Given the description of an element on the screen output the (x, y) to click on. 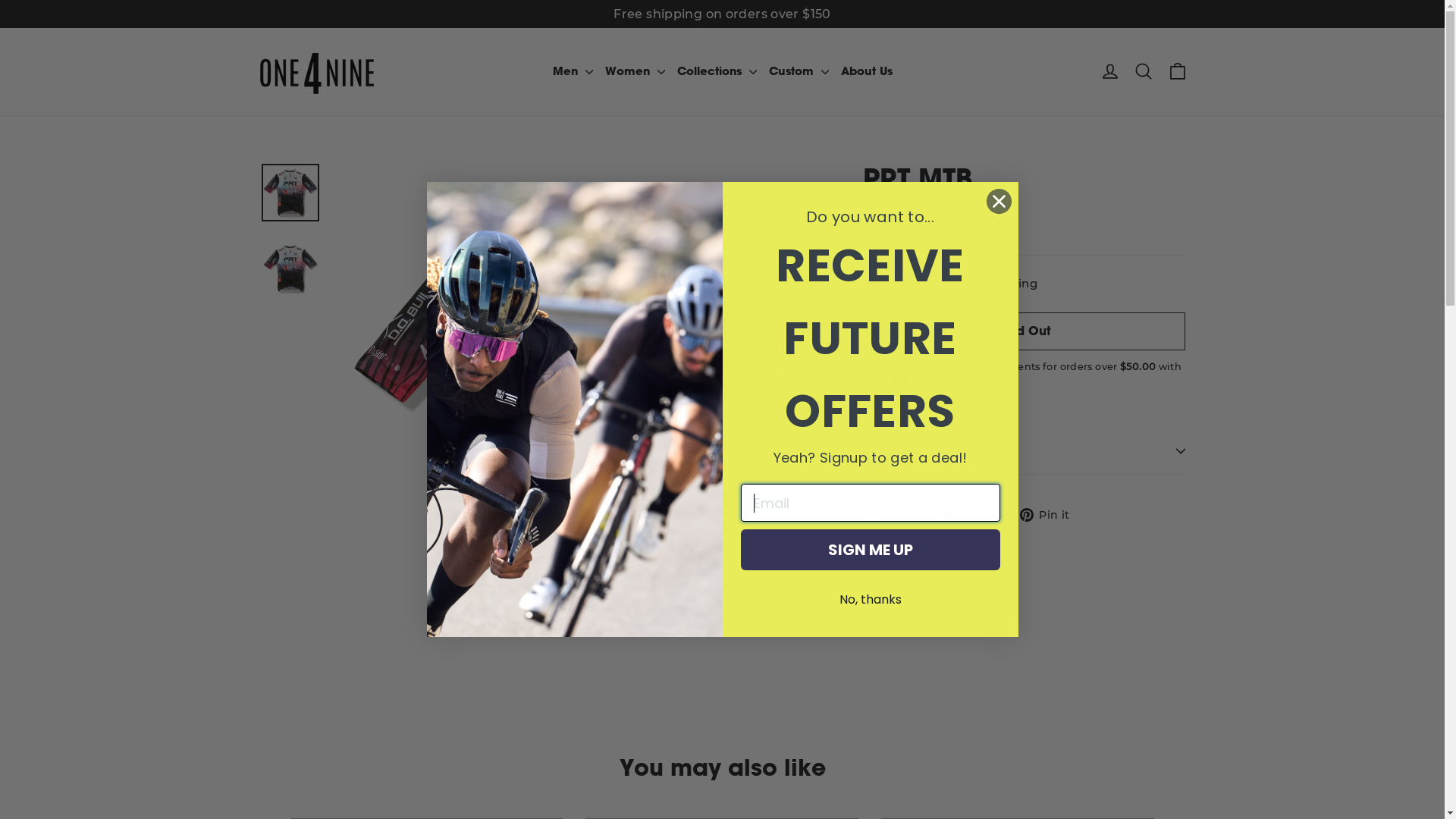
Sold Out Element type: text (1023, 331)
Log in Element type: text (1109, 71)
Women Element type: text (635, 70)
Tweet
Tweet on Twitter Element type: text (973, 514)
Search Element type: text (1143, 71)
About Us Element type: text (865, 70)
Men Element type: text (572, 70)
Cart Element type: text (1176, 71)
Share
Share on Facebook Element type: text (894, 514)
ASK A QUESTION Element type: text (1023, 450)
Collections Element type: text (716, 70)
Custom Element type: text (798, 70)
Pin it
Pin on Pinterest Element type: text (1050, 514)
